Given the description of an element on the screen output the (x, y) to click on. 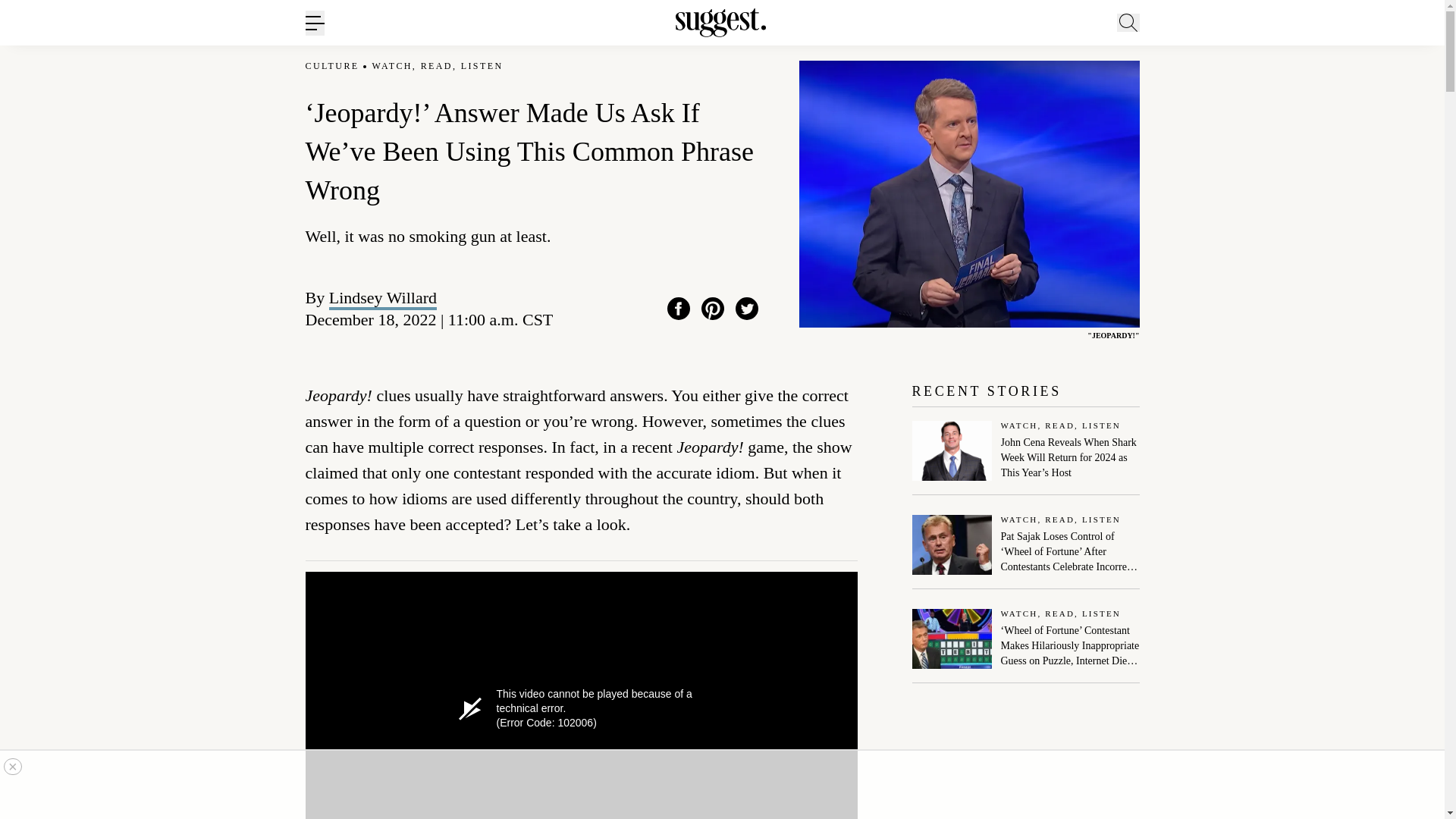
Watch, Read, Listen (1070, 426)
Search (1170, 95)
Watch, Read, Listen (1070, 520)
Twitter (746, 308)
Facebook (678, 308)
Watch, Read, Listen (1070, 614)
Lindsey Willard (382, 297)
Pinterest (712, 308)
CULTURE (331, 66)
Suggest (720, 22)
WATCH, READ, LISTEN (437, 66)
